Given the description of an element on the screen output the (x, y) to click on. 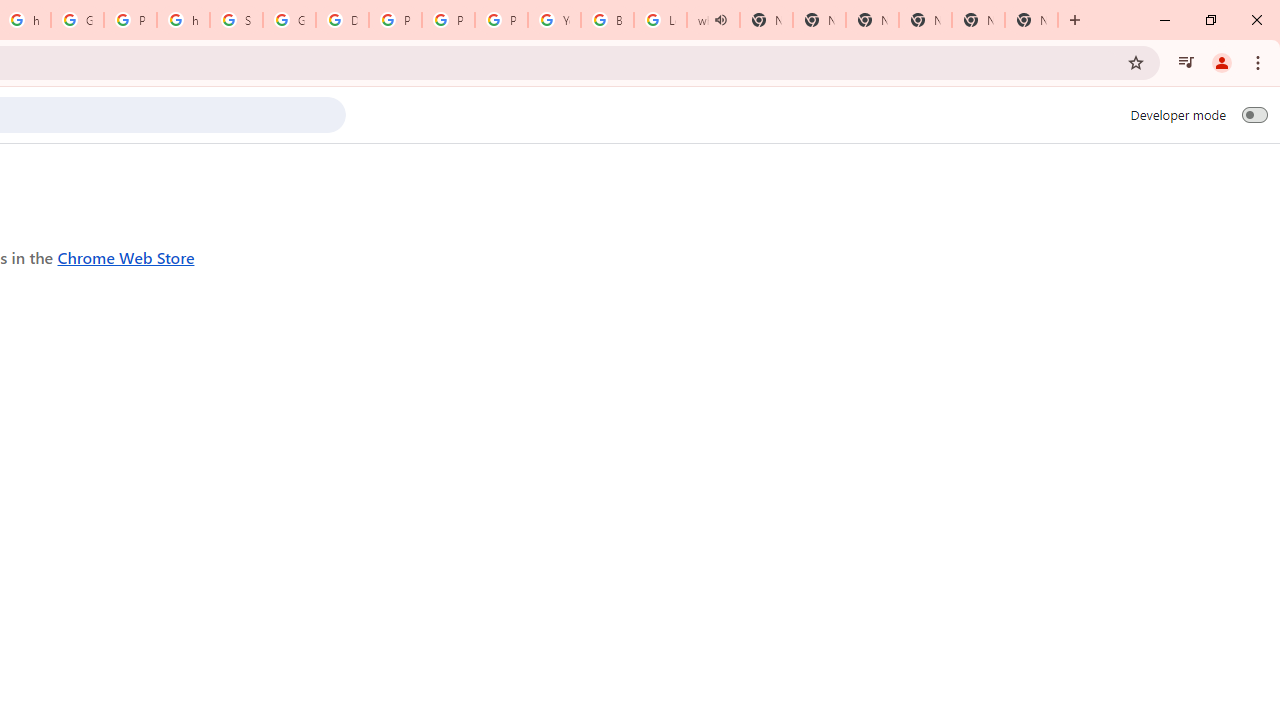
YouTube (554, 20)
Developer mode (1254, 114)
New Tab (1031, 20)
